Given the description of an element on the screen output the (x, y) to click on. 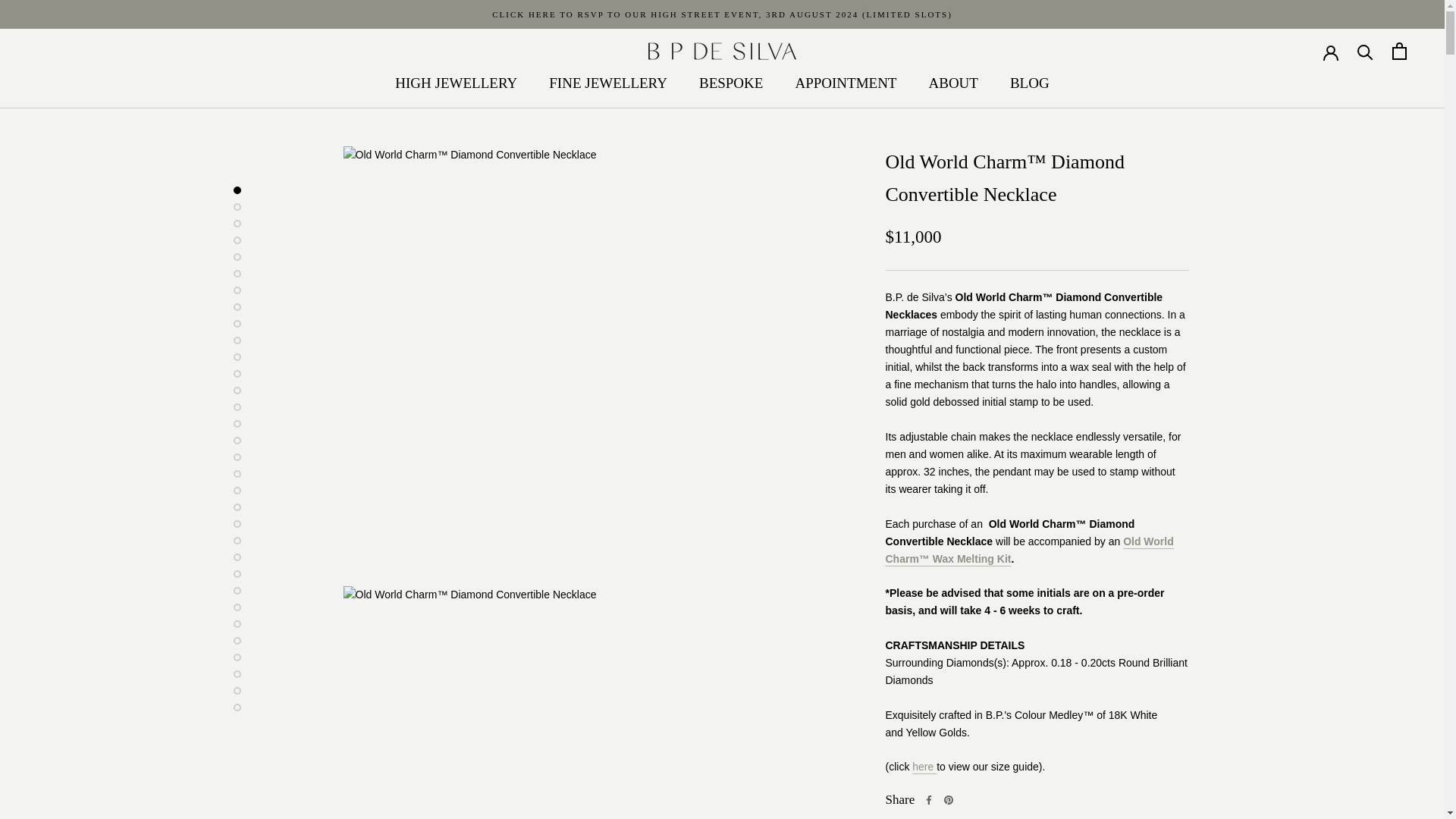
B.P. de Silva Jewellery Size Guide (924, 766)
